Given the description of an element on the screen output the (x, y) to click on. 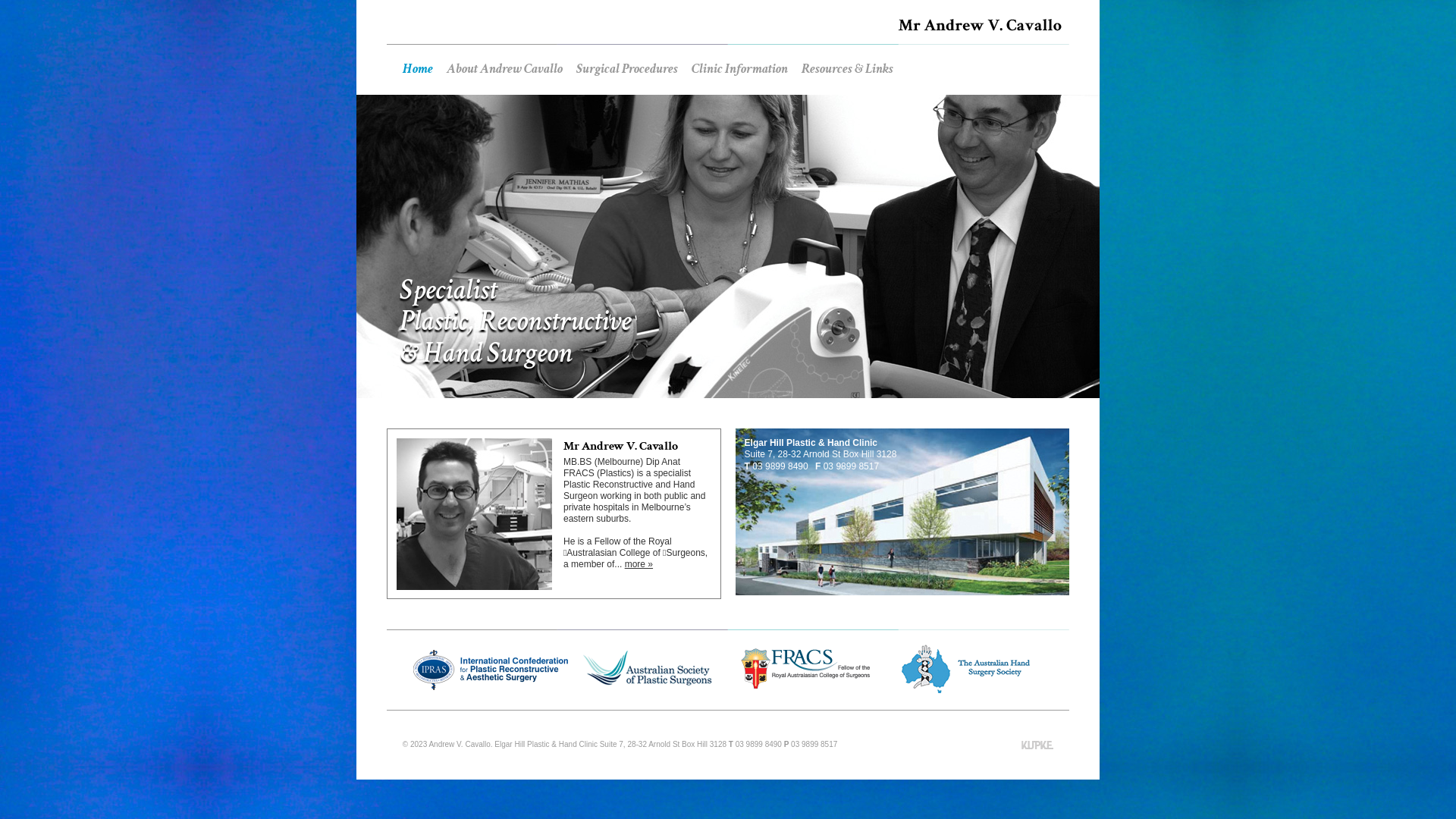
Andrew V. Cavallo Element type: text (458, 744)
Home Element type: text (417, 68)
Clinic Information Element type: text (739, 68)
Mr Andrew V. Cavallo Element type: hover (979, 24)
Surgical Procedures Element type: text (626, 68)
Resources & Links Element type: text (847, 68)
About Andrew Cavallo Element type: text (504, 68)
